Given the description of an element on the screen output the (x, y) to click on. 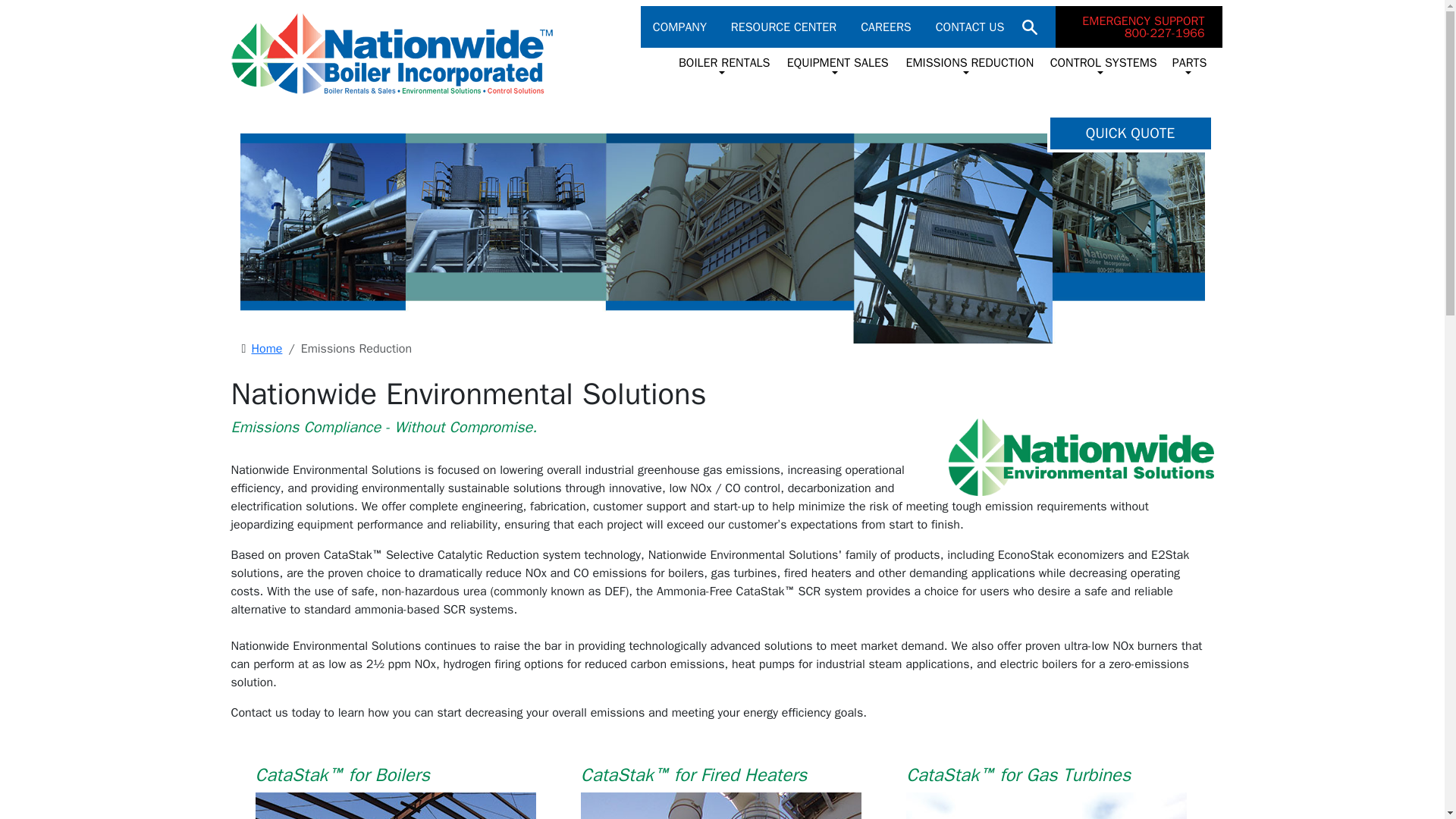
EMISSIONS REDUCTION (1139, 26)
CONTACT US (965, 65)
RESOURCE CENTER (970, 27)
COMPANY (789, 27)
EQUIPMENT SALES (685, 27)
BOILER RENTALS (835, 65)
CAREERS (722, 65)
